Given the description of an element on the screen output the (x, y) to click on. 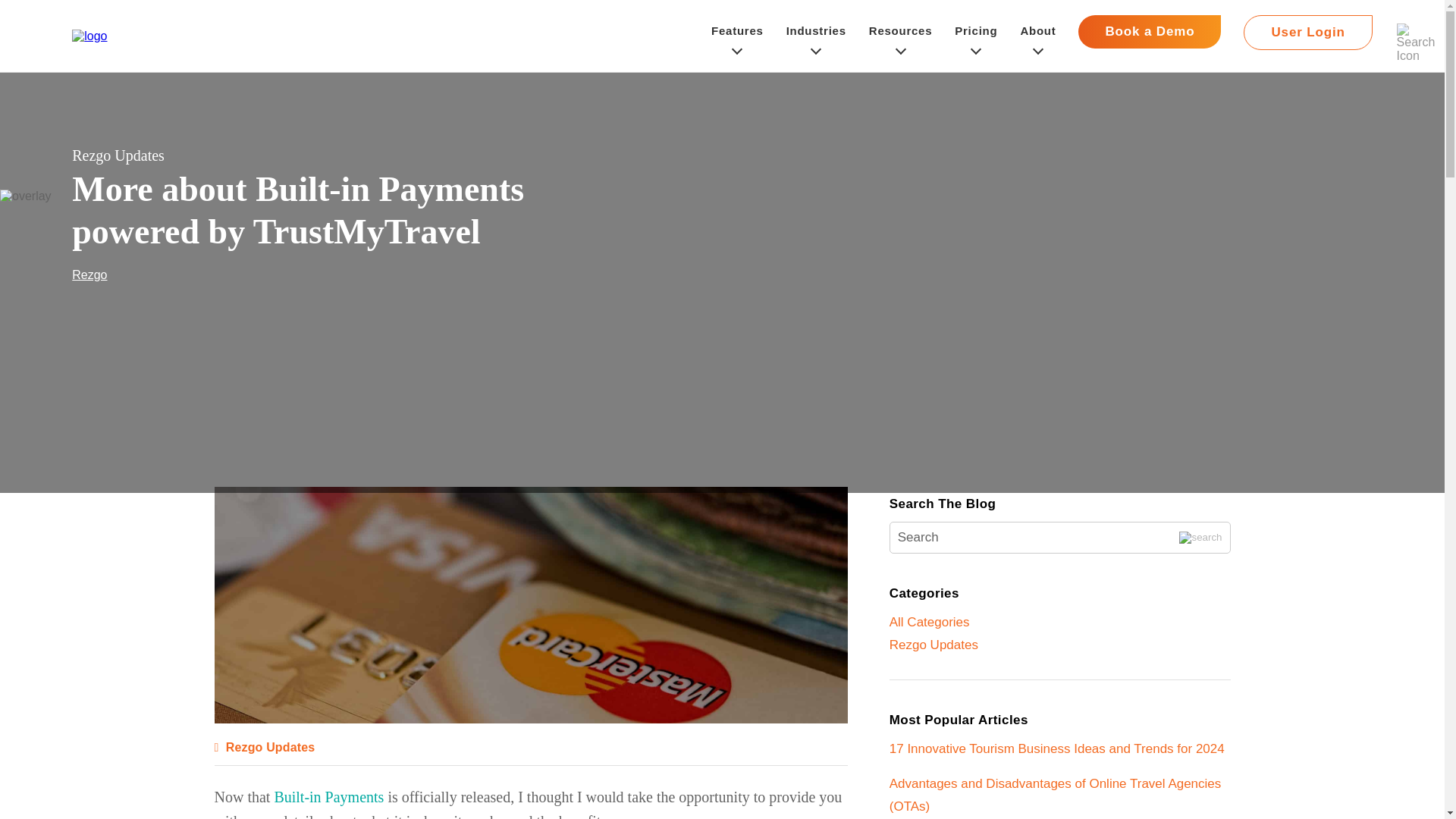
Resources (900, 36)
Pricing (976, 36)
Industries (815, 36)
Book a Demo (1149, 31)
User Login (1307, 32)
User Login (1307, 35)
Book a Demo (1149, 35)
Features (736, 36)
